Given the description of an element on the screen output the (x, y) to click on. 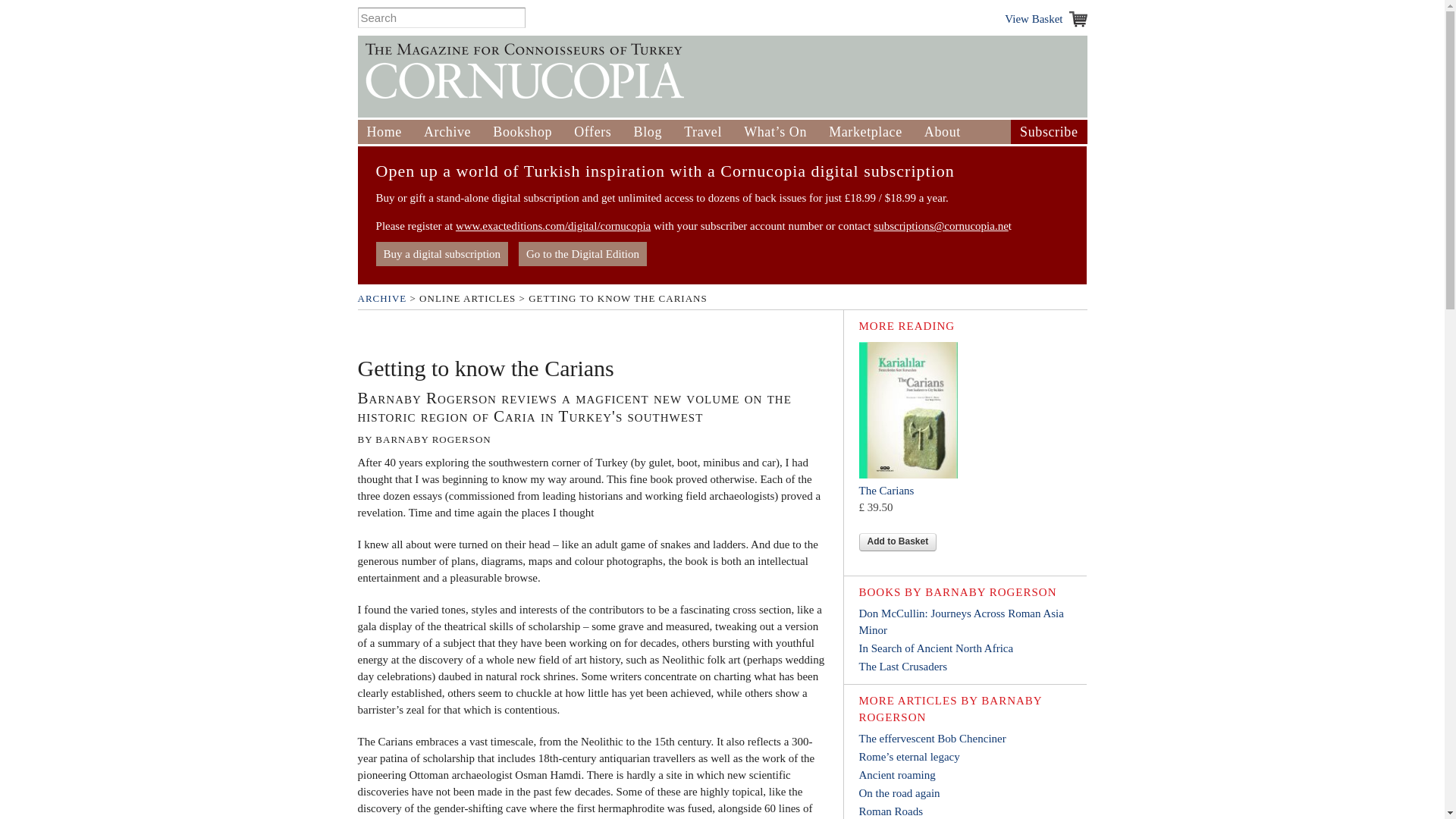
Bookshop (522, 131)
Marketplace (865, 131)
Buy a digital subscription (441, 253)
Blog (647, 131)
Travel (703, 131)
ARCHIVE (382, 297)
Offers (592, 131)
Archive (446, 131)
View Basket (1045, 18)
Subscribe (1048, 131)
About (942, 131)
Home (383, 131)
Twitter Tweet Button (381, 333)
Go to the Digital Edition (582, 253)
